Given the description of an element on the screen output the (x, y) to click on. 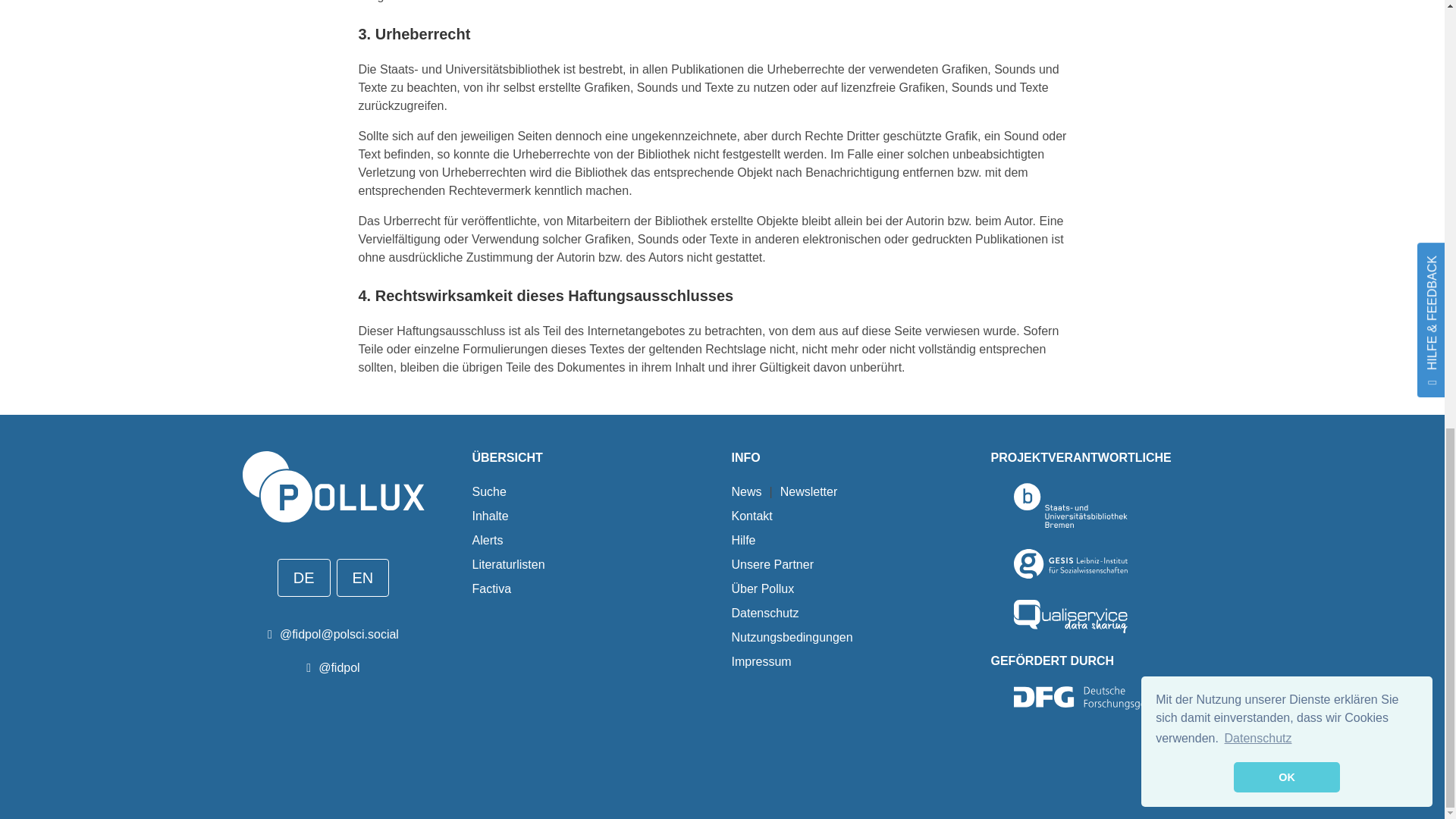
Suche (488, 491)
Literaturlisten (507, 563)
Inhalte (489, 515)
News (745, 491)
DE (304, 577)
Kontakt (750, 515)
Alerts (486, 540)
EN (363, 577)
English (363, 577)
Deutsch (304, 577)
Factiva (491, 588)
Newsletter (809, 491)
